Given the description of an element on the screen output the (x, y) to click on. 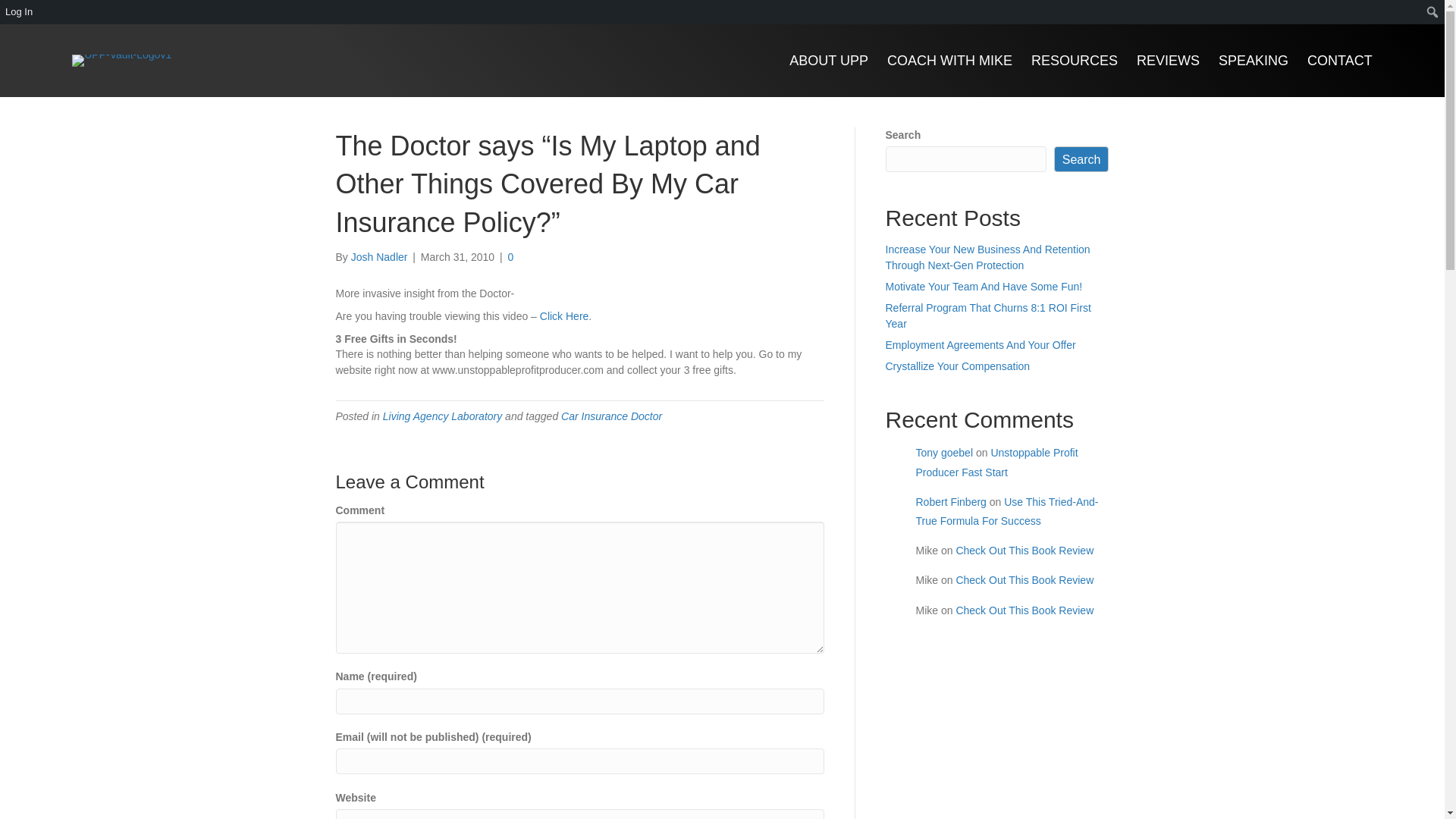
Motivate Your Team And Have Some Fun! (984, 286)
Search (1081, 158)
Check Out This Book Review (1024, 580)
Check Out This Book Review (1024, 550)
REVIEWS (1158, 60)
CONTACT (1330, 60)
COACH WITH MIKE (939, 60)
ABOUT UPP (818, 60)
Tony goebel (944, 452)
Living Agency Laboratory (442, 416)
Employment Agreements And Your Offer (980, 345)
Use This Tried-And-True Formula For Success (1007, 511)
SPEAKING (1243, 60)
Josh Nadler (378, 256)
Check Out This Book Review (1024, 610)
